Given the description of an element on the screen output the (x, y) to click on. 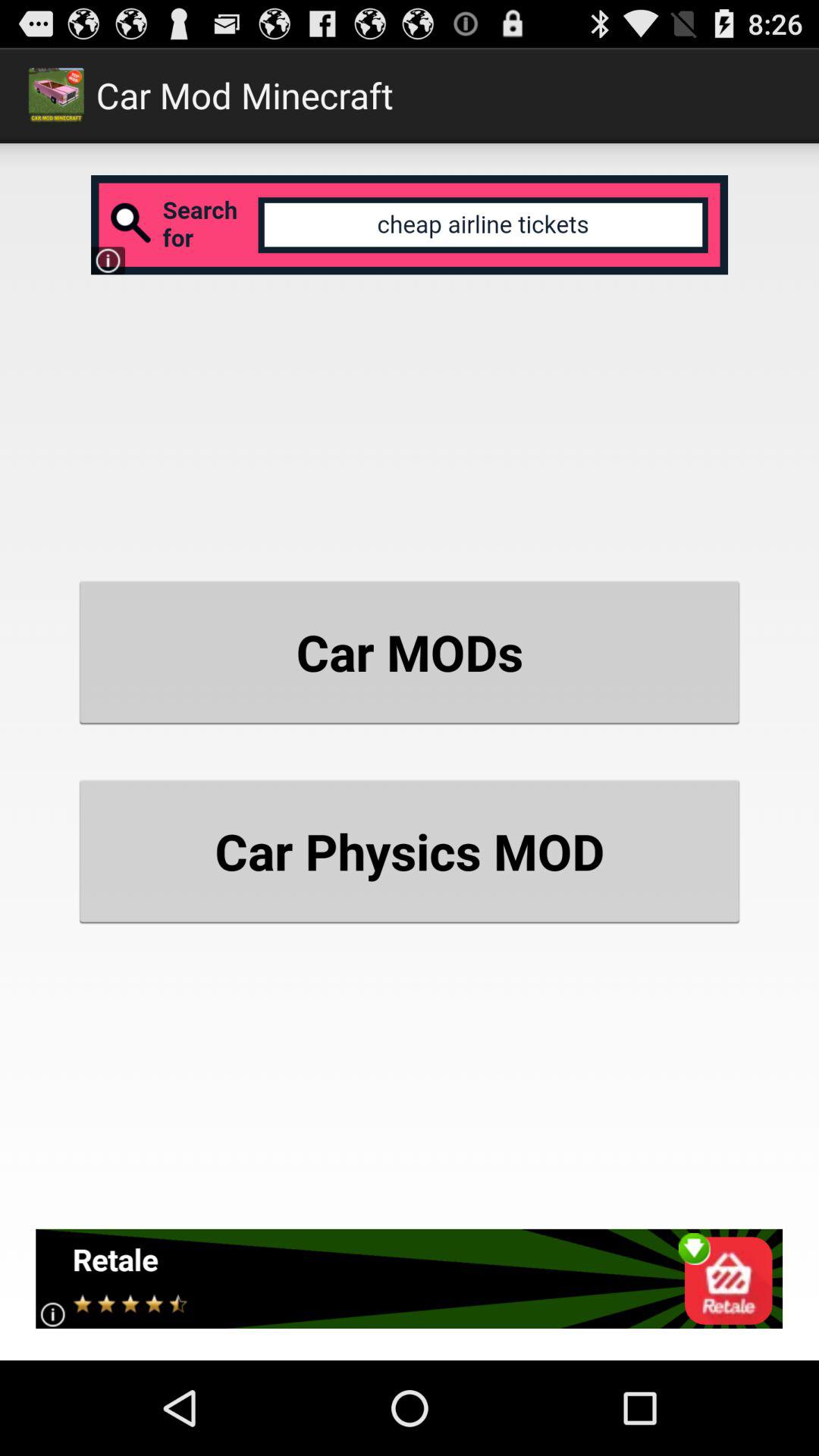
tap icon below car physics mod (408, 1278)
